Given the description of an element on the screen output the (x, y) to click on. 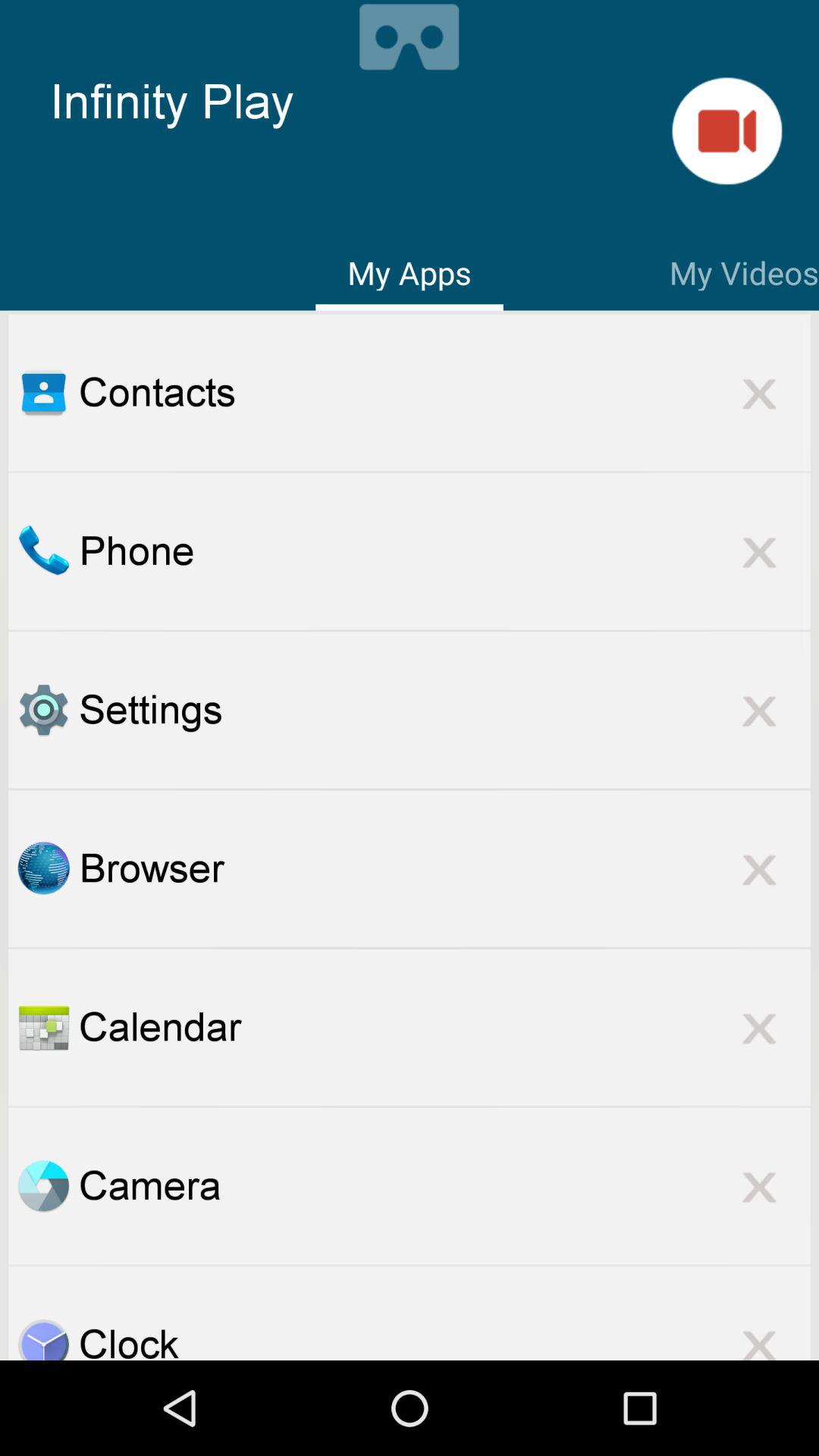
scroll until my videos item (744, 270)
